Given the description of an element on the screen output the (x, y) to click on. 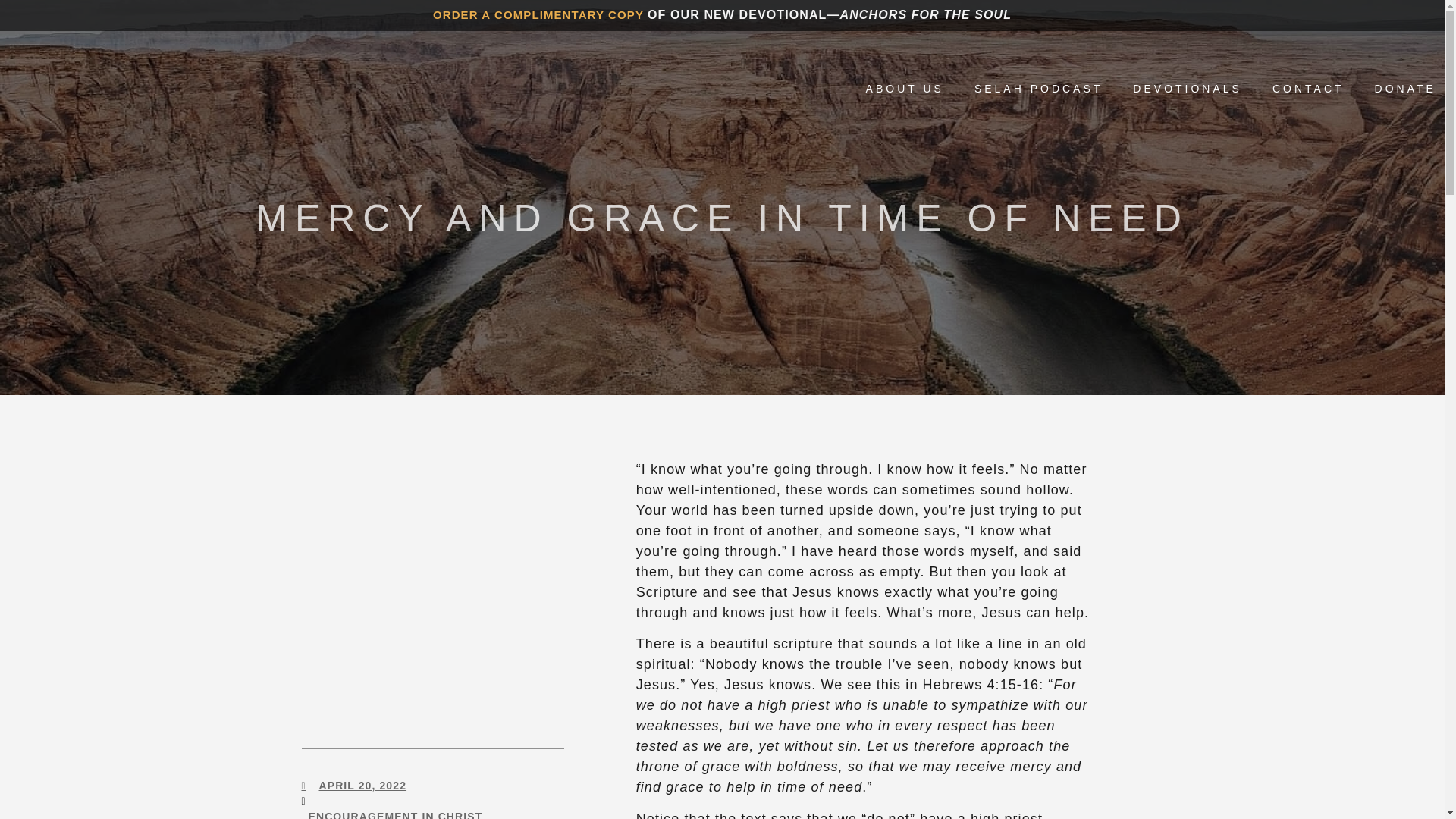
ORDER A COMPLIMENTARY COPY (539, 14)
DEVOTIONALS (1186, 87)
CONTACT (1307, 87)
SELAH PODCAST (1038, 87)
ABOUT US (904, 87)
